Given the description of an element on the screen output the (x, y) to click on. 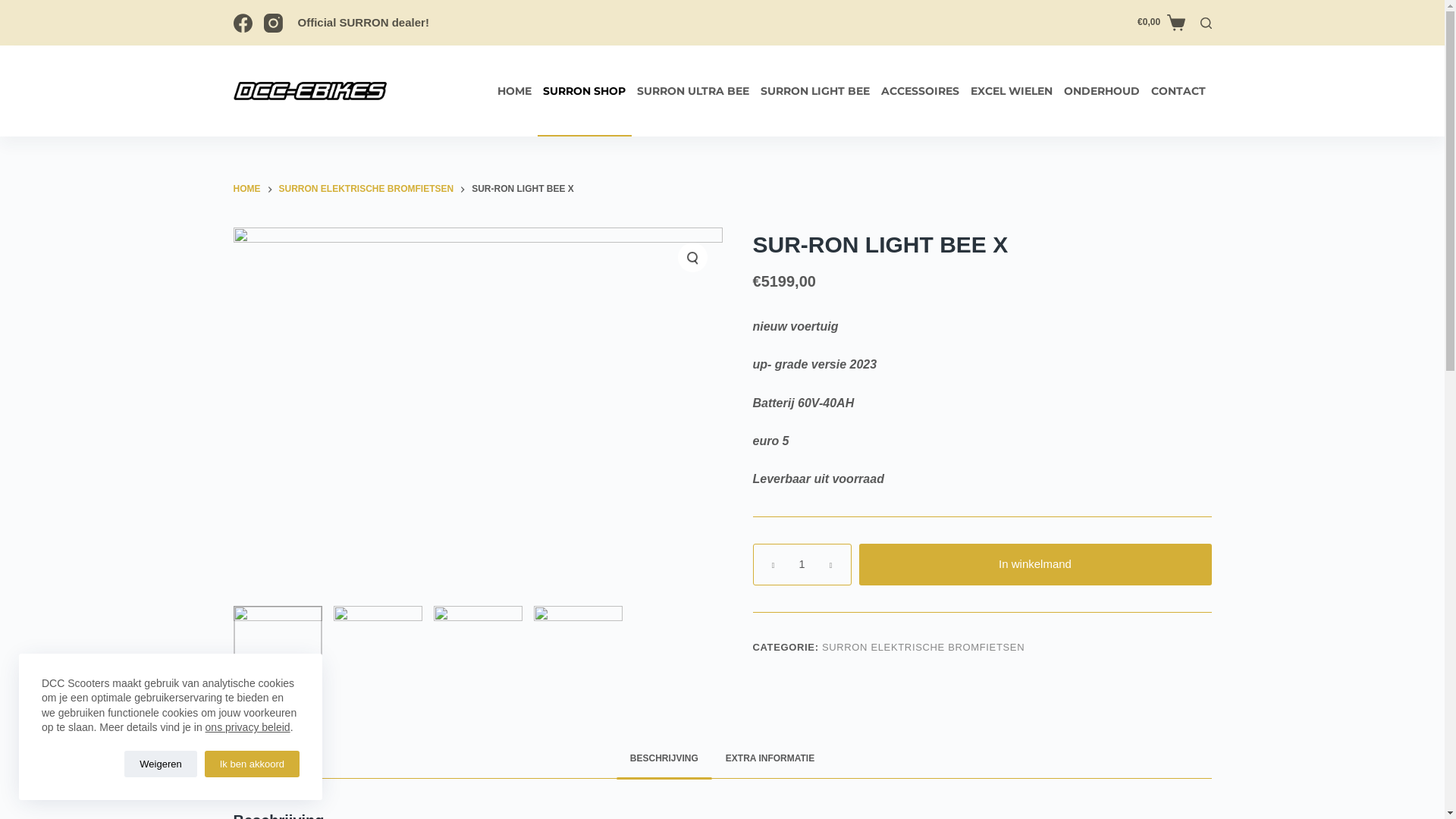
CONTACT Element type: text (1178, 90)
EXCEL WIELEN Element type: text (1010, 90)
ACCESSOIRES Element type: text (919, 90)
Skip to content Element type: text (15, 7)
IMG_9677 Element type: hover (477, 410)
SURRON ELEKTRISCHE BROMFIETSEN Element type: text (366, 189)
HOME Element type: text (513, 90)
SURRON ULTRA BEE Element type: text (692, 90)
In winkelmand Element type: text (1034, 564)
IMG_9676 Element type: hover (377, 649)
IMG_9677 Element type: hover (577, 649)
ons privacy beleid Element type: text (247, 727)
BESCHRIJVING Element type: text (664, 759)
EXTRA INFORMATIE Element type: text (770, 759)
IMG_9675 Element type: hover (477, 649)
SURRON ELEKTRISCHE BROMFIETSEN Element type: text (923, 646)
IMG_9677 Element type: hover (277, 649)
SURRON LIGHT BEE Element type: text (815, 90)
ONDERHOUD Element type: text (1101, 90)
HOME Element type: text (246, 189)
Weigeren Element type: text (160, 763)
Ik ben akkoord Element type: text (251, 763)
SURRON SHOP Element type: text (583, 90)
